Given the description of an element on the screen output the (x, y) to click on. 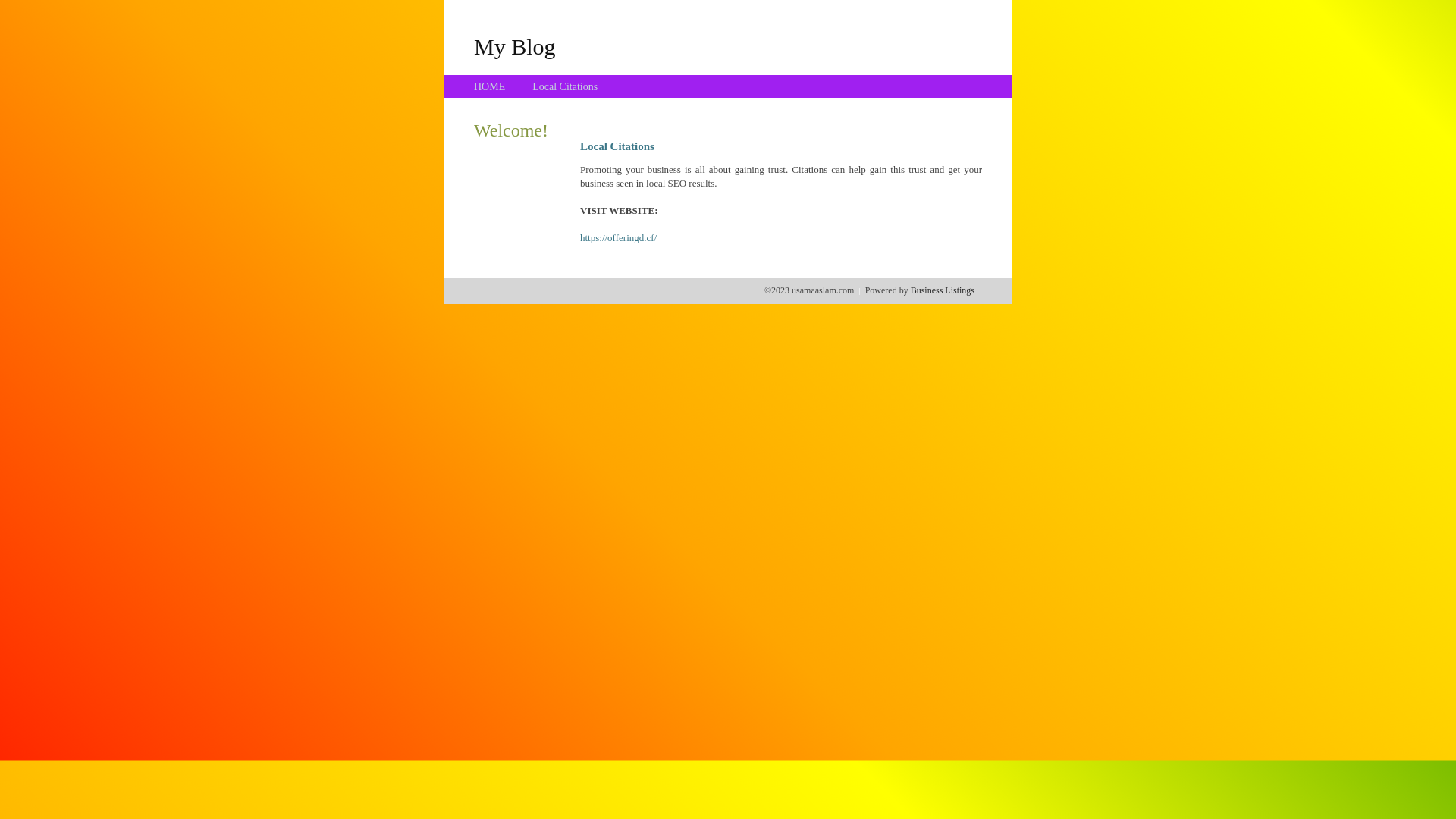
My Blog Element type: text (514, 46)
Business Listings Element type: text (942, 290)
https://offeringd.cf/ Element type: text (618, 237)
HOME Element type: text (489, 86)
Local Citations Element type: text (564, 86)
